Given the description of an element on the screen output the (x, y) to click on. 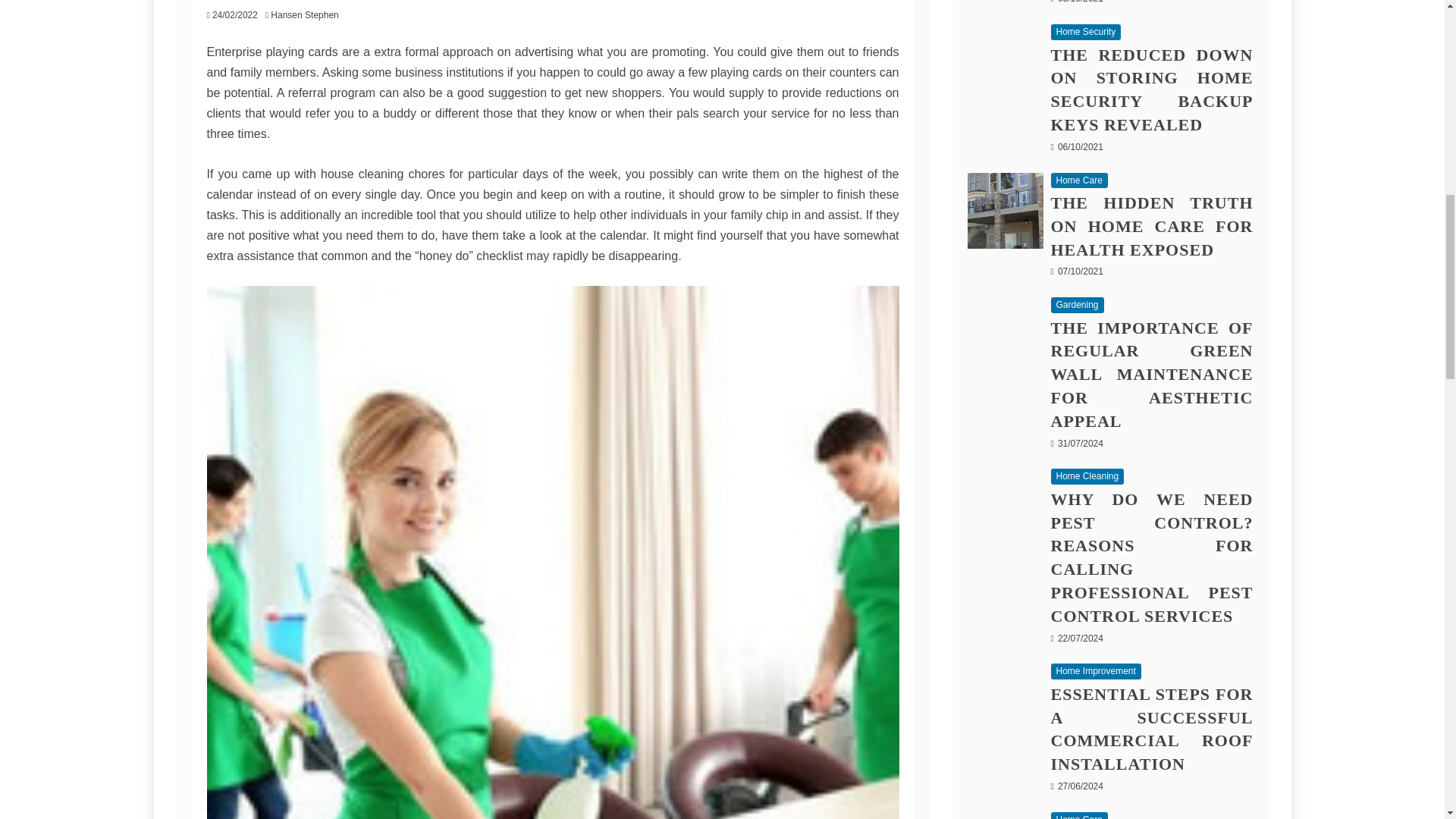
The Hidden Truth on Home Care For Health Exposed (1005, 210)
Hansen Stephen (308, 14)
